Given the description of an element on the screen output the (x, y) to click on. 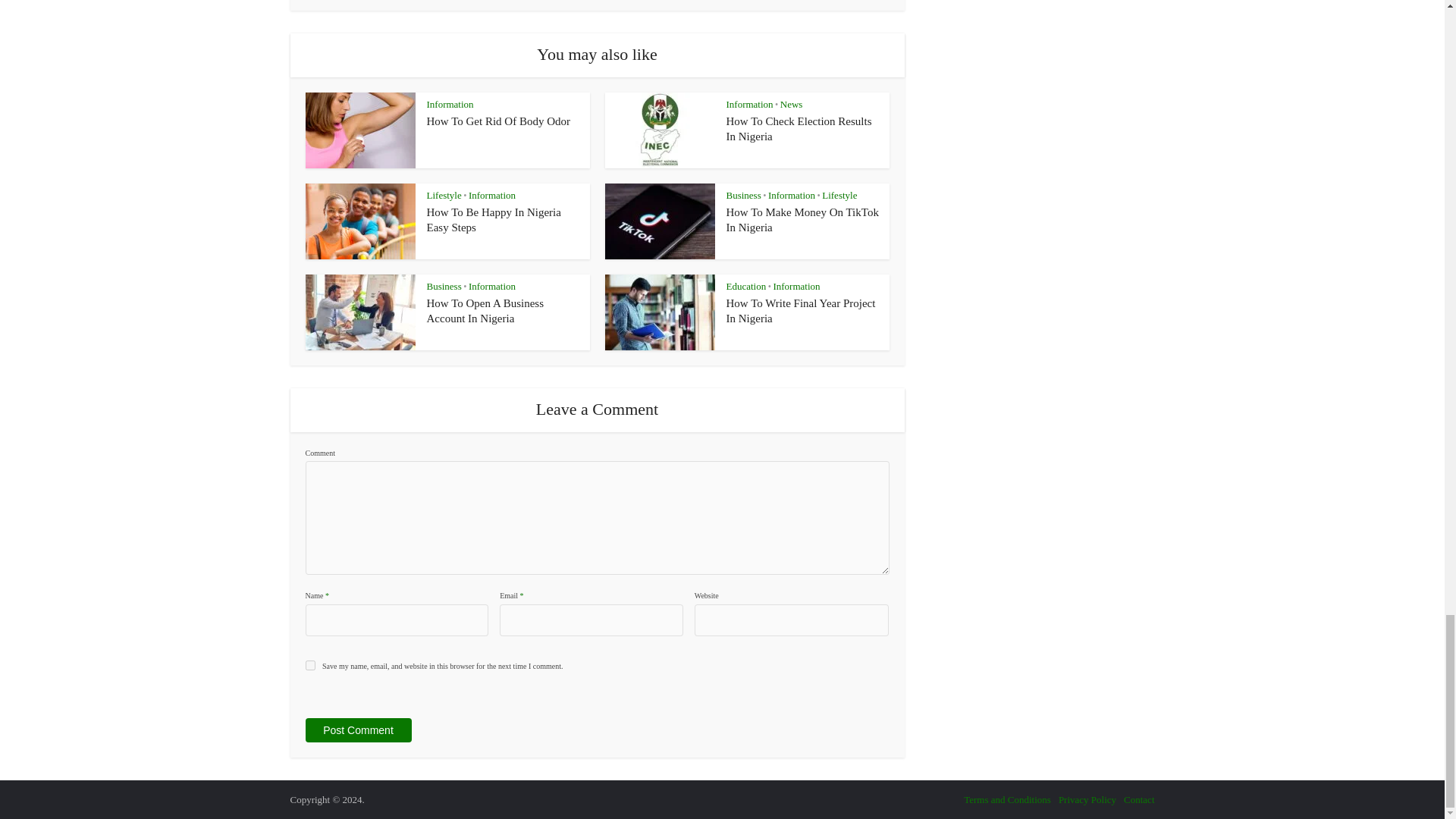
Information (449, 103)
How To Check Election Results In Nigeria (799, 128)
How To Make Money On TikTok In Nigeria (802, 219)
How To Get Rid Of Body Odor (498, 121)
yes (309, 665)
How To Be Happy In Nigeria Easy Steps (493, 219)
How To Get Rid Of Body Odor (498, 121)
Post Comment (357, 730)
How To Open A Business Account In Nigeria (484, 310)
How To Write Final Year Project In Nigeria (801, 310)
